Given the description of an element on the screen output the (x, y) to click on. 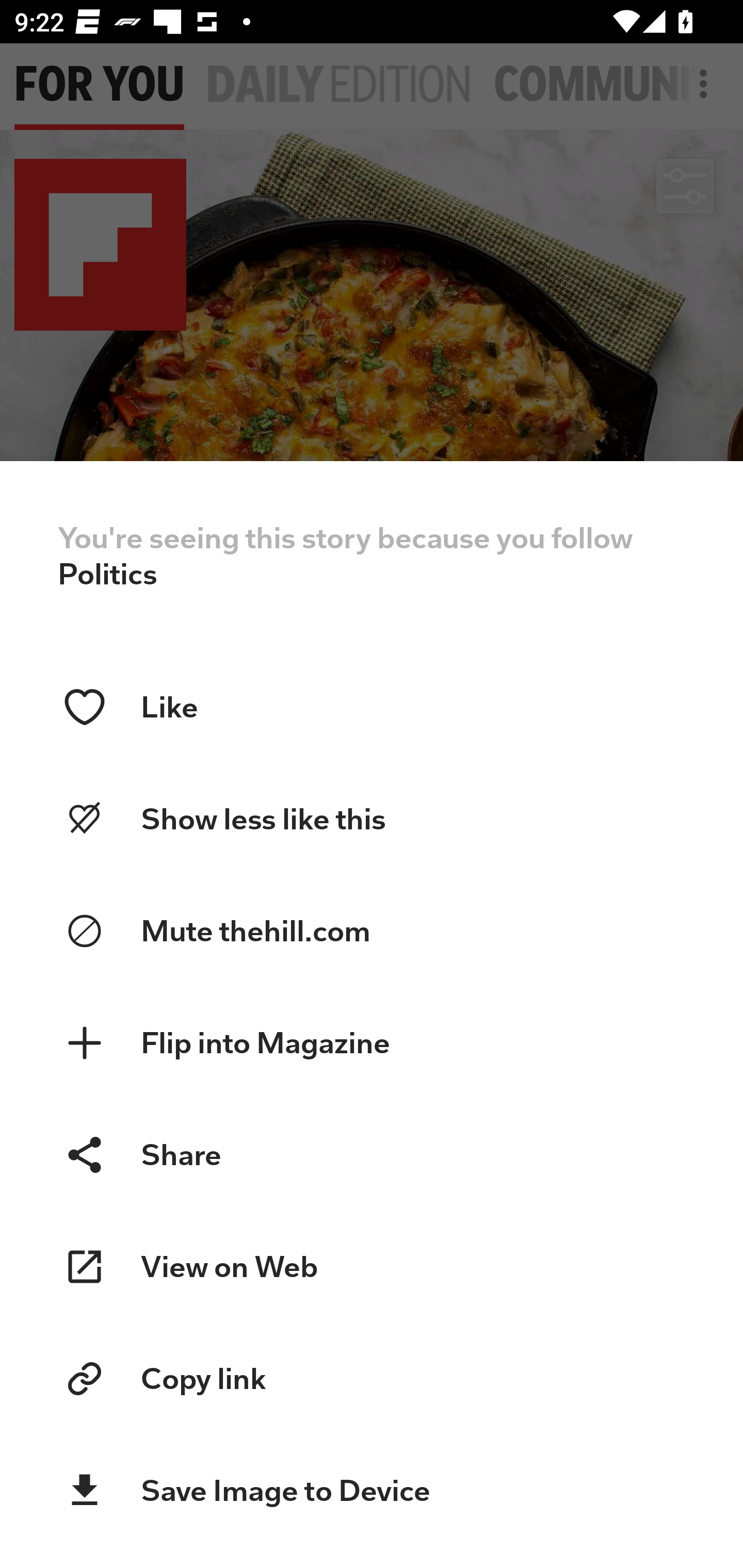
Like (371, 706)
Show less like this (371, 818)
Mute thehill.com (371, 930)
Flip into Magazine (371, 1043)
Share (371, 1154)
View on Web (371, 1266)
Copy link (371, 1378)
Save Image to Device (371, 1490)
